Given the description of an element on the screen output the (x, y) to click on. 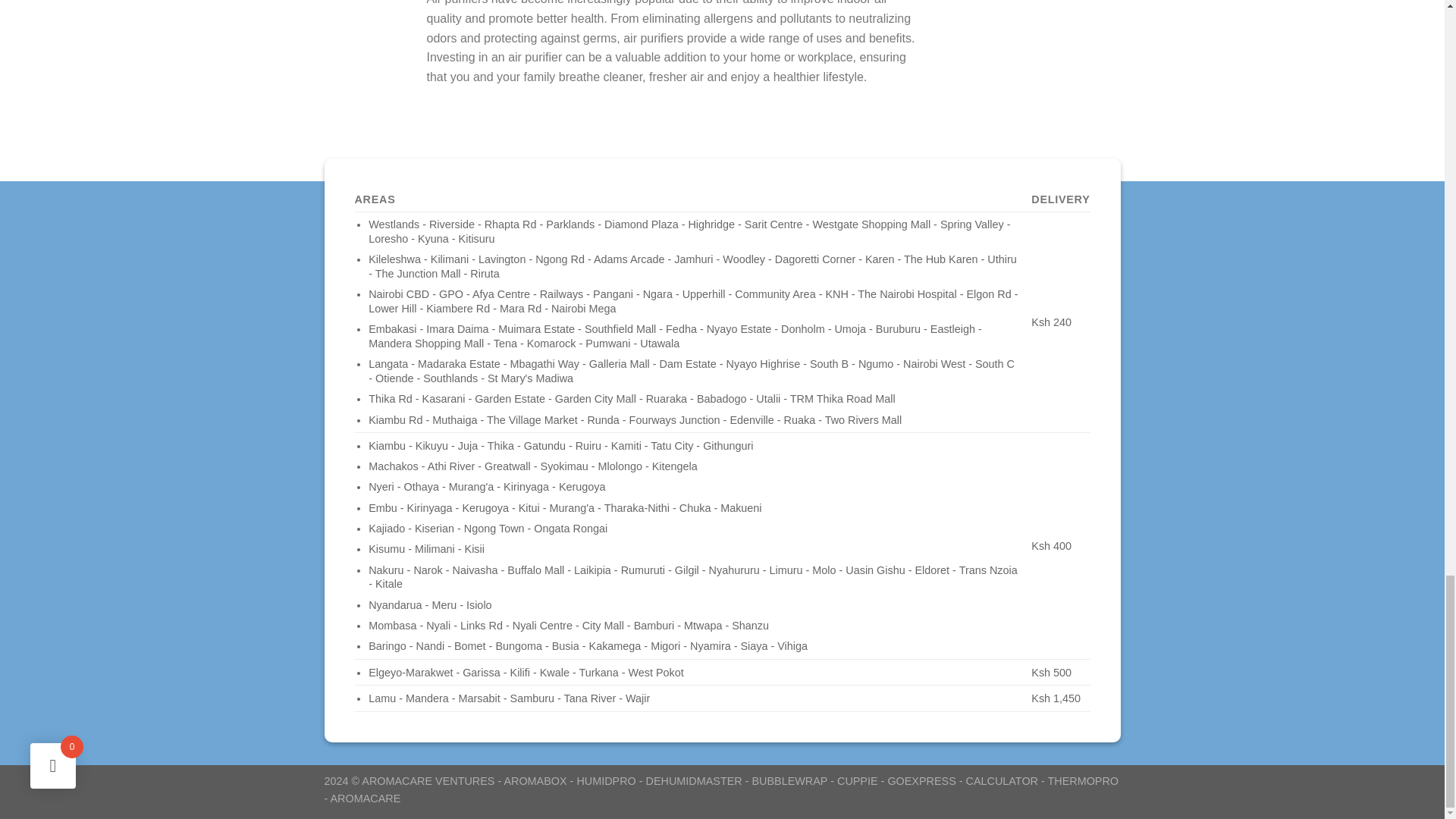
CALCULATOR (1002, 780)
GOEXPRESS (920, 780)
AROMABOX (534, 780)
BUBBLEWRAP (789, 780)
HUMIDPRO (605, 780)
DEHUMIDMASTER (694, 780)
CUPPIE (857, 780)
THERMOPRO (1083, 780)
AROMACARE (365, 798)
